Given the description of an element on the screen output the (x, y) to click on. 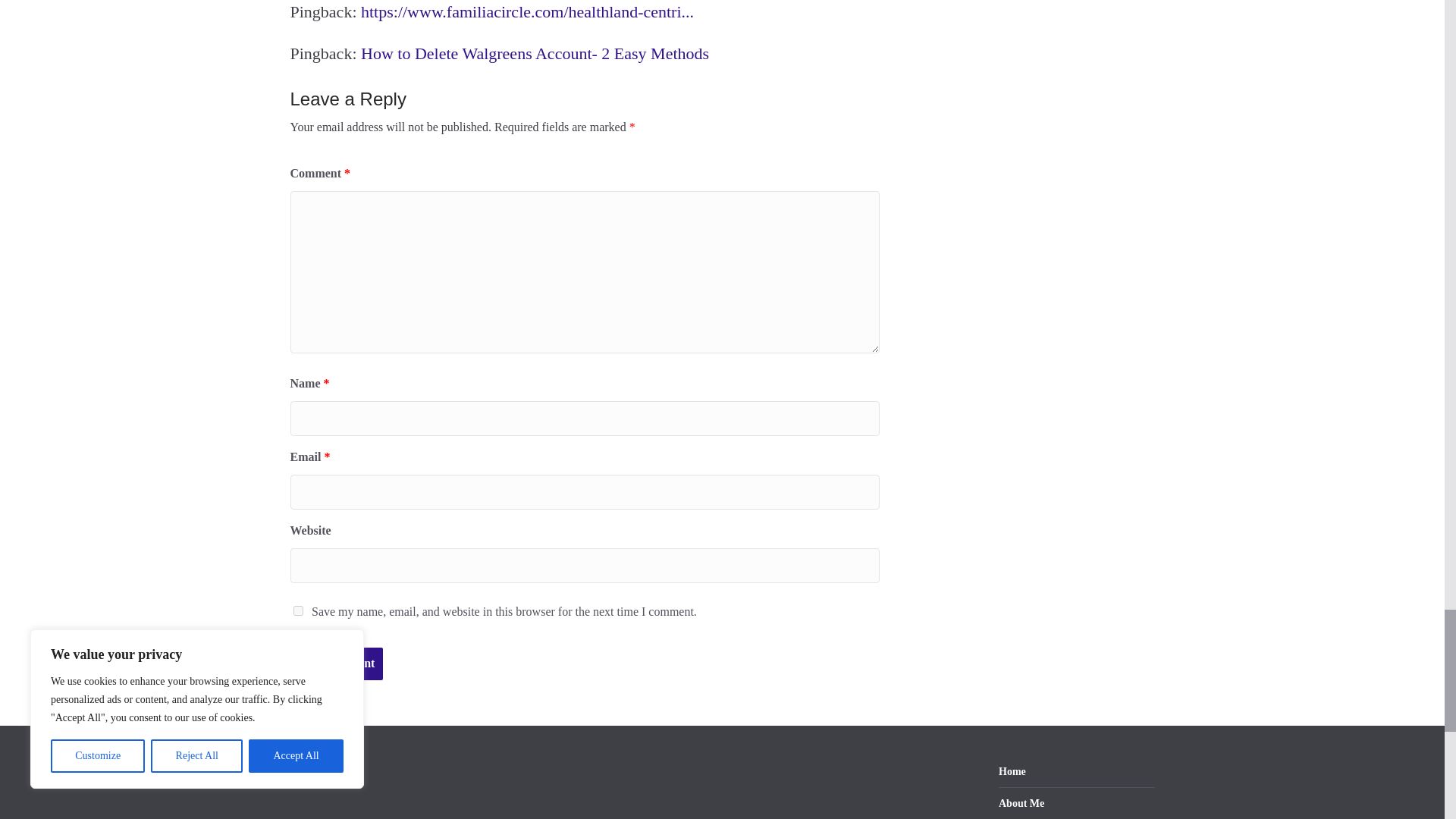
yes (297, 610)
Post Comment (335, 663)
